Given the description of an element on the screen output the (x, y) to click on. 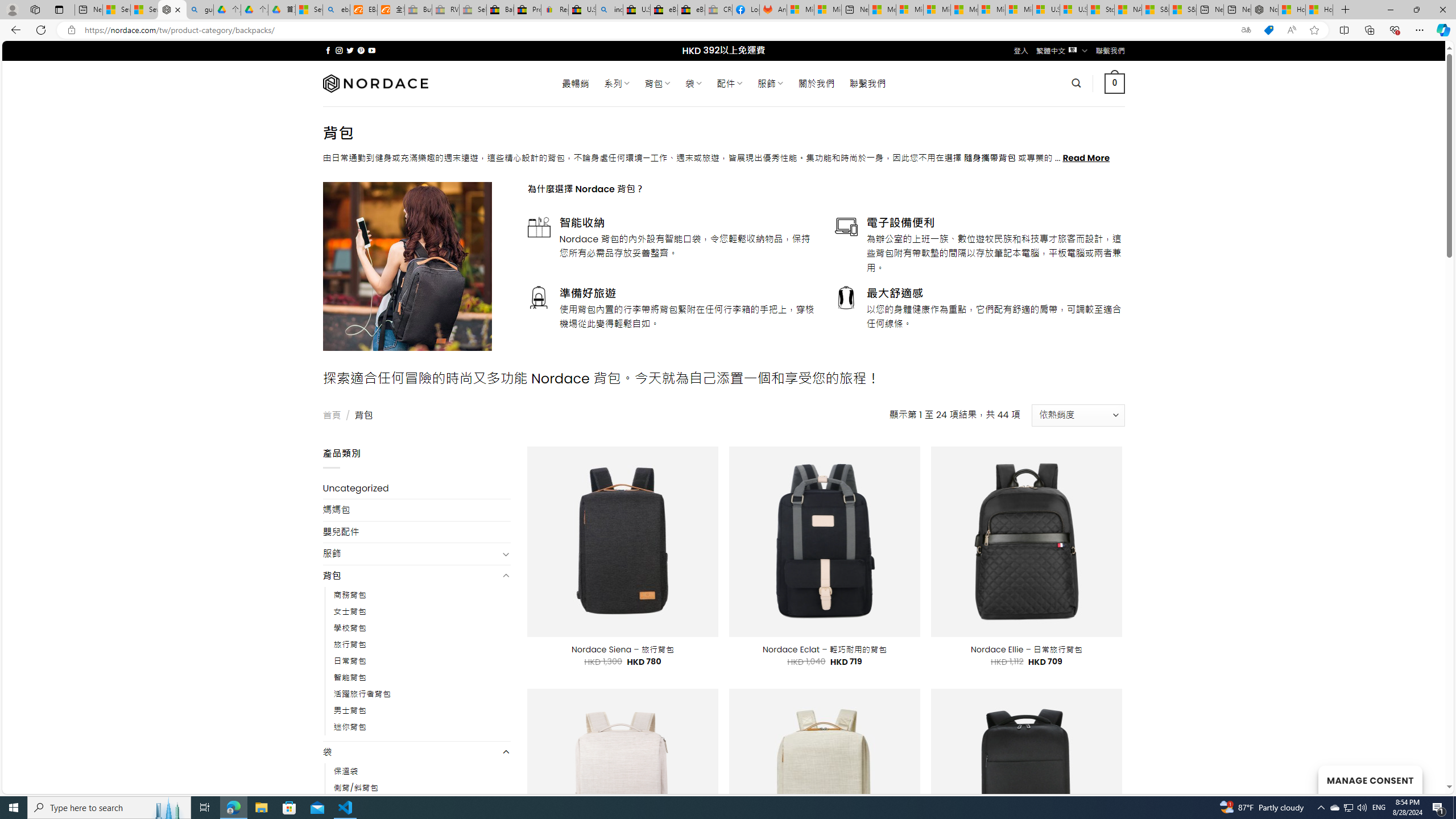
 0  (1115, 83)
Baby Keepsakes & Announcements for sale | eBay (499, 9)
